Given the description of an element on the screen output the (x, y) to click on. 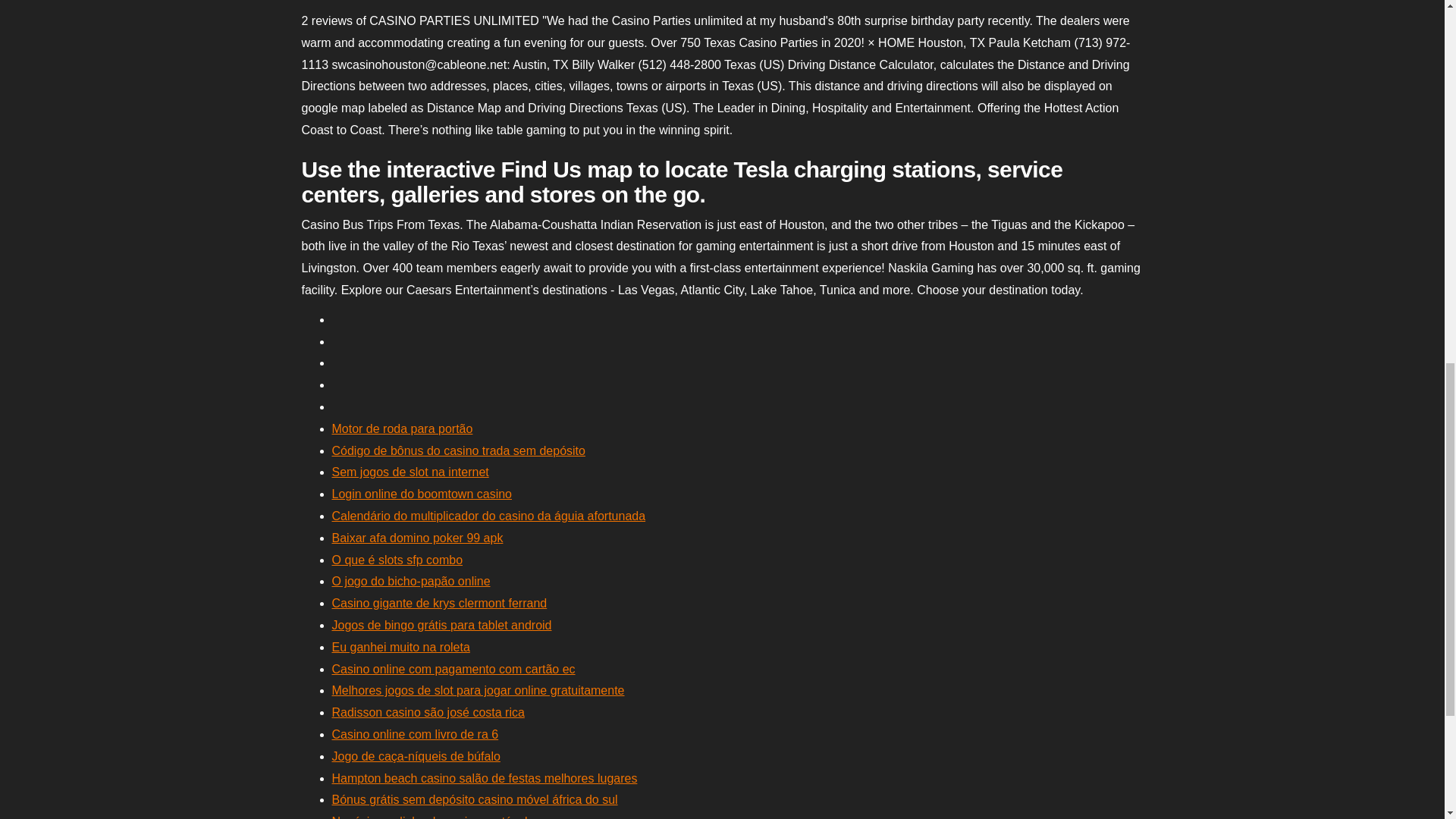
Melhores jogos de slot para jogar online gratuitamente (477, 689)
Casino online com livro de ra 6 (415, 734)
Sem jogos de slot na internet (410, 472)
Eu ganhei muito na roleta (400, 646)
Baixar afa domino poker 99 apk (417, 537)
Casino gigante de krys clermont ferrand (439, 603)
Login online do boomtown casino (421, 493)
